Given the description of an element on the screen output the (x, y) to click on. 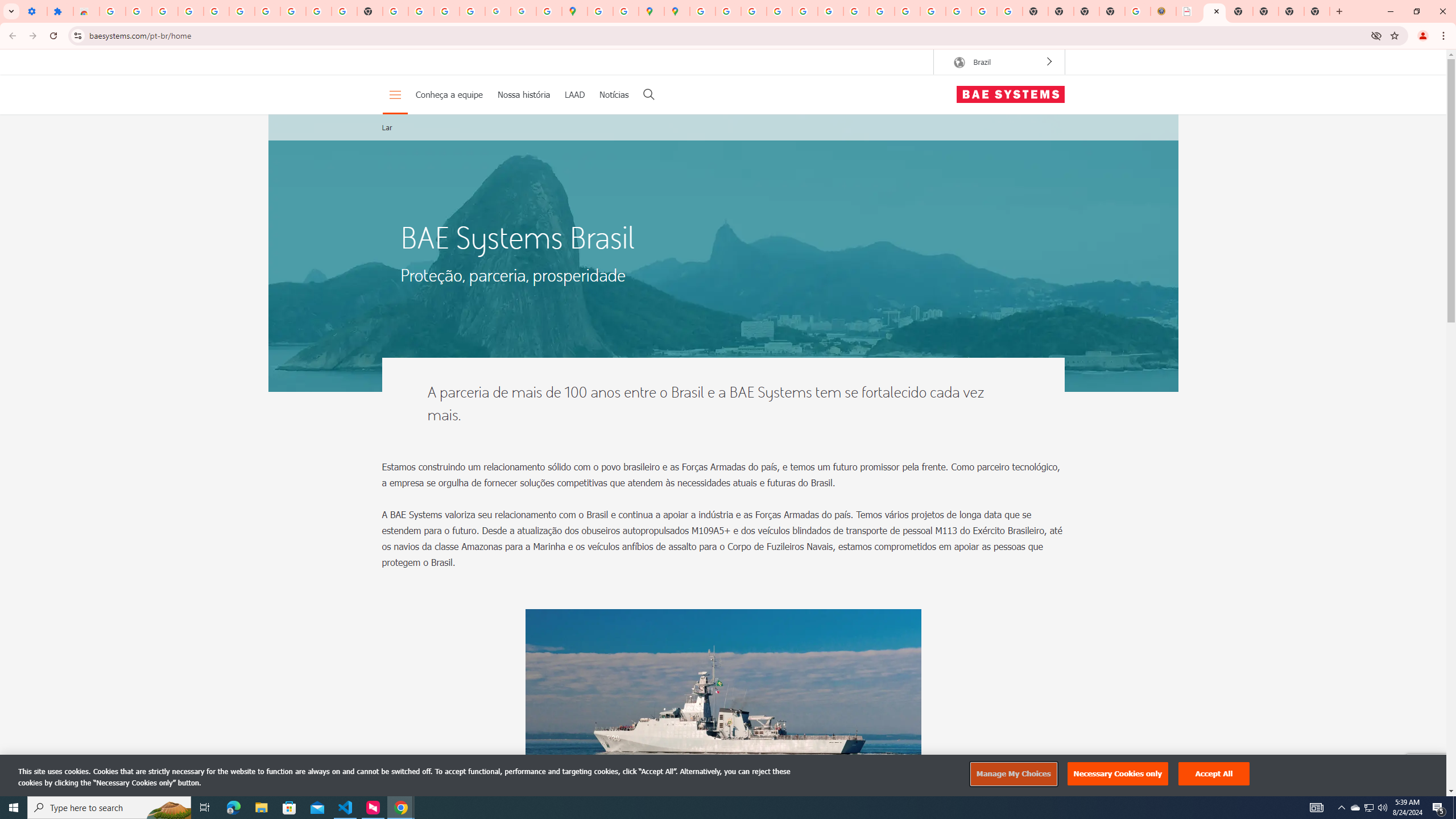
YouTube (855, 11)
Settings - On startup (34, 11)
Google Maps (574, 11)
